Given the description of an element on the screen output the (x, y) to click on. 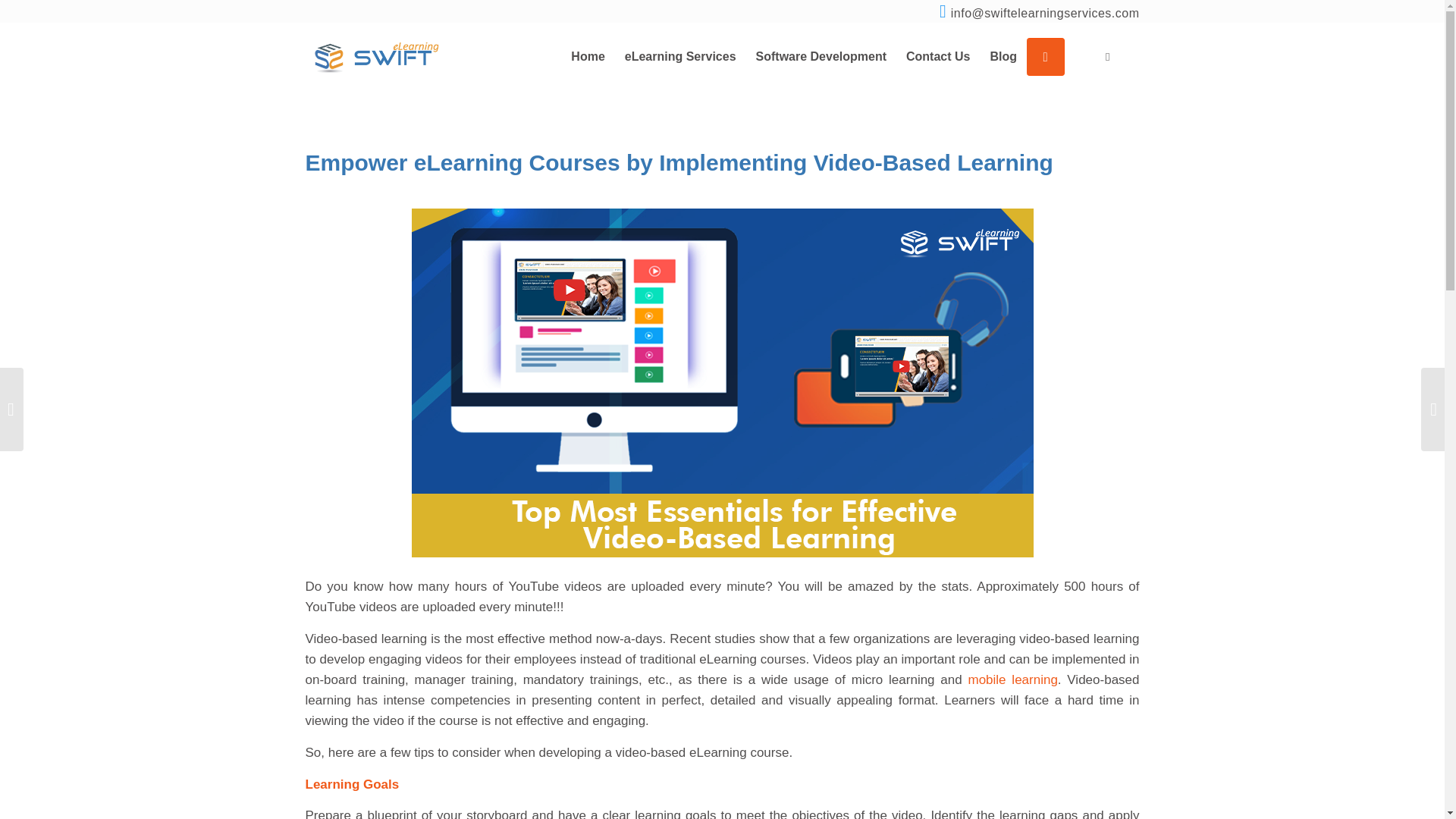
Software Development (820, 56)
swiftelearningservices-logo (376, 56)
Software Solutions (820, 56)
Mail (1045, 13)
eLearning Services (679, 56)
mobile learning (1012, 679)
eLearning Solutions (679, 56)
Contact Us (937, 56)
